Given the description of an element on the screen output the (x, y) to click on. 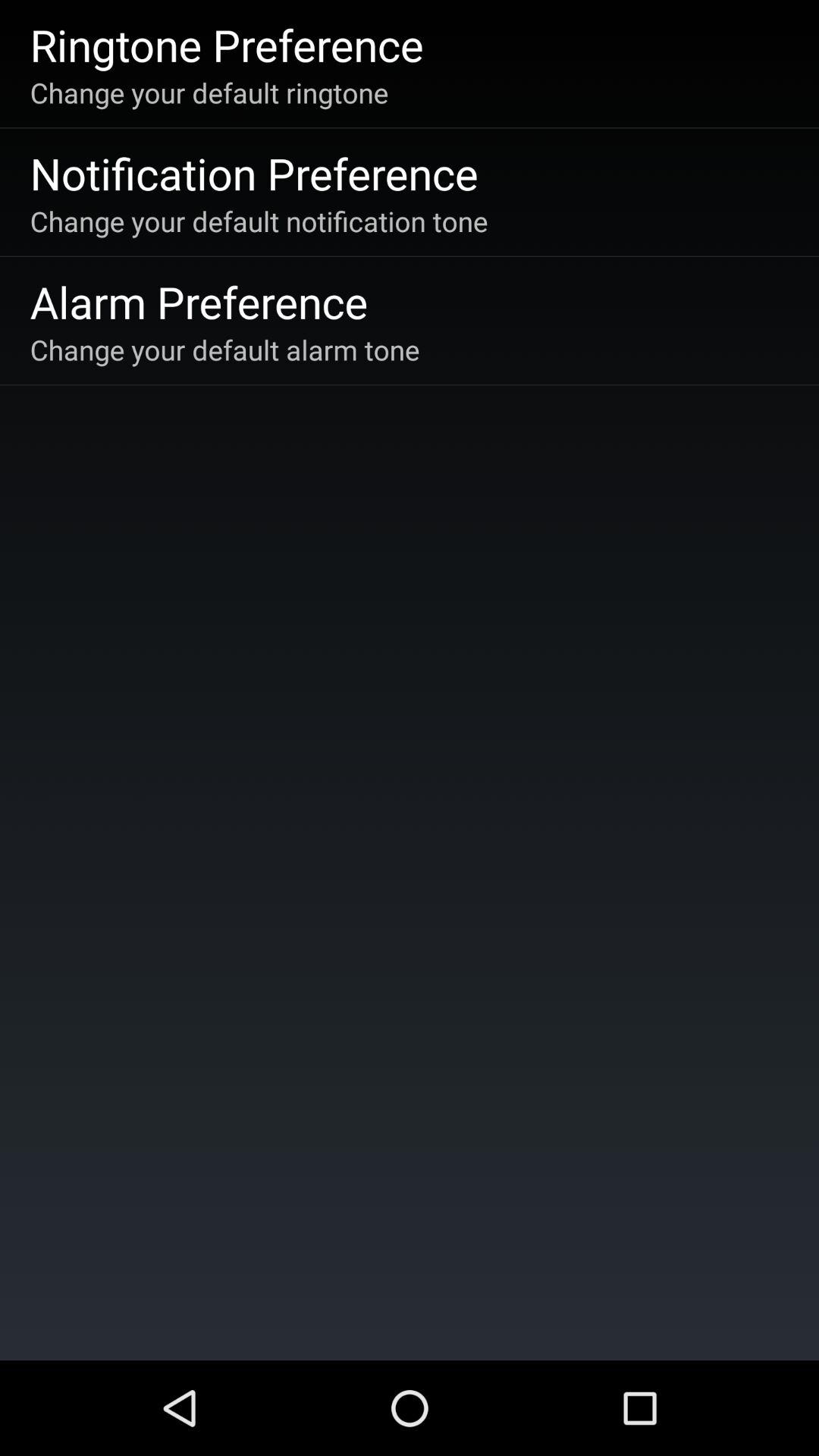
turn off the alarm preference (198, 301)
